Given the description of an element on the screen output the (x, y) to click on. 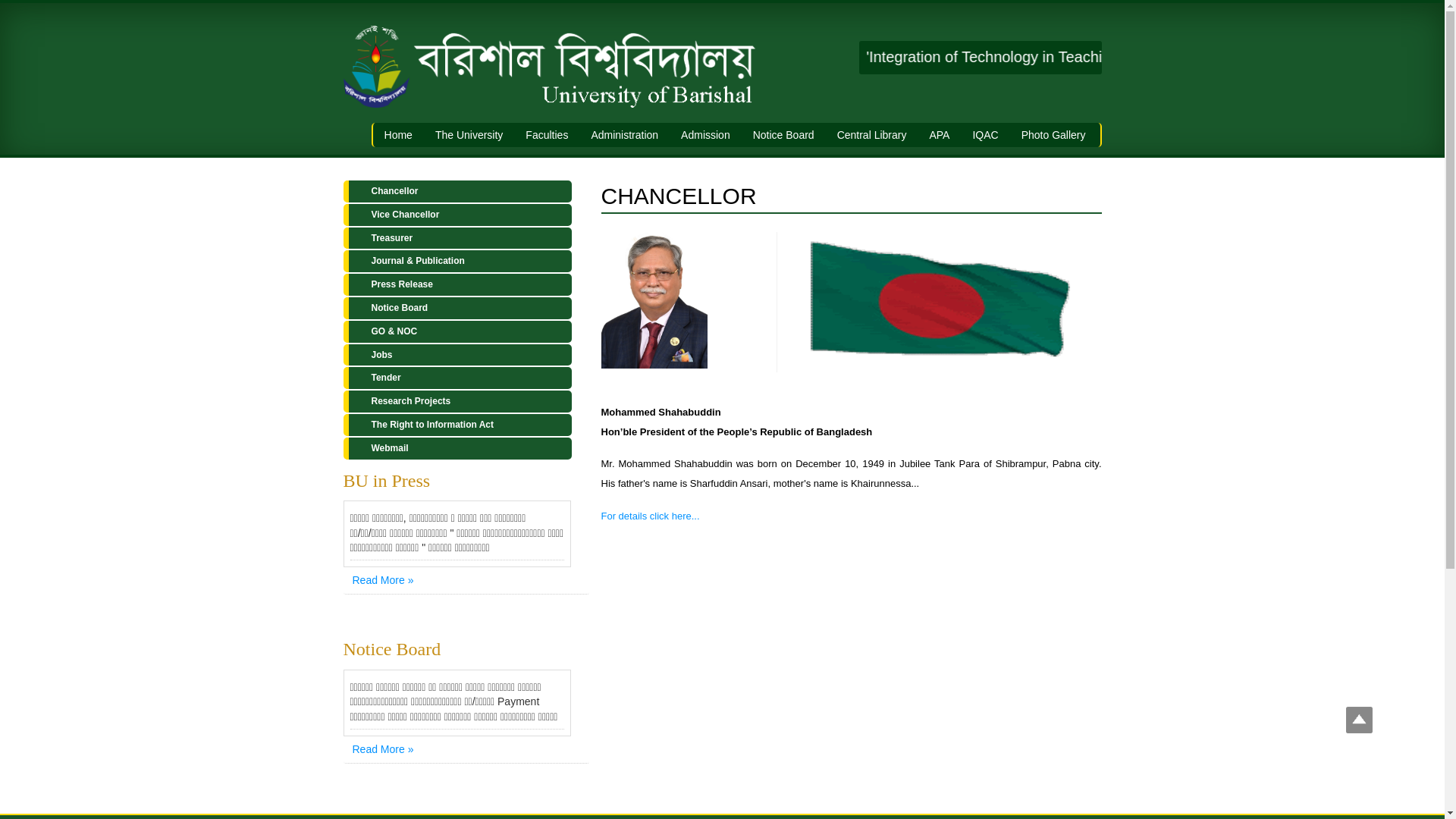
Treasurer Element type: text (456, 238)
For details click here... Element type: text (649, 515)
The University Element type: text (468, 134)
APA Element type: text (938, 134)
Vice Chancellor Element type: text (456, 214)
Jobs Element type: text (456, 355)
Notice Board Element type: text (783, 134)
Research Projects Element type: text (456, 401)
IQAC Element type: text (984, 134)
Notice Board Element type: text (456, 308)
The Right to Information Act Element type: text (456, 425)
Go to top Element type: hover (1359, 721)
Webmail Element type: text (456, 448)
Faculties Element type: text (546, 134)
GO & NOC Element type: text (456, 331)
Journal & Publication Element type: text (456, 261)
Home Element type: text (398, 134)
Central Library Element type: text (871, 134)
Tender Element type: text (456, 378)
Admission Element type: text (705, 134)
Press Release Element type: text (456, 284)
Chancellor Element type: text (456, 191)
Photo Gallery Element type: text (1053, 134)
Administration Element type: text (624, 134)
